Given the description of an element on the screen output the (x, y) to click on. 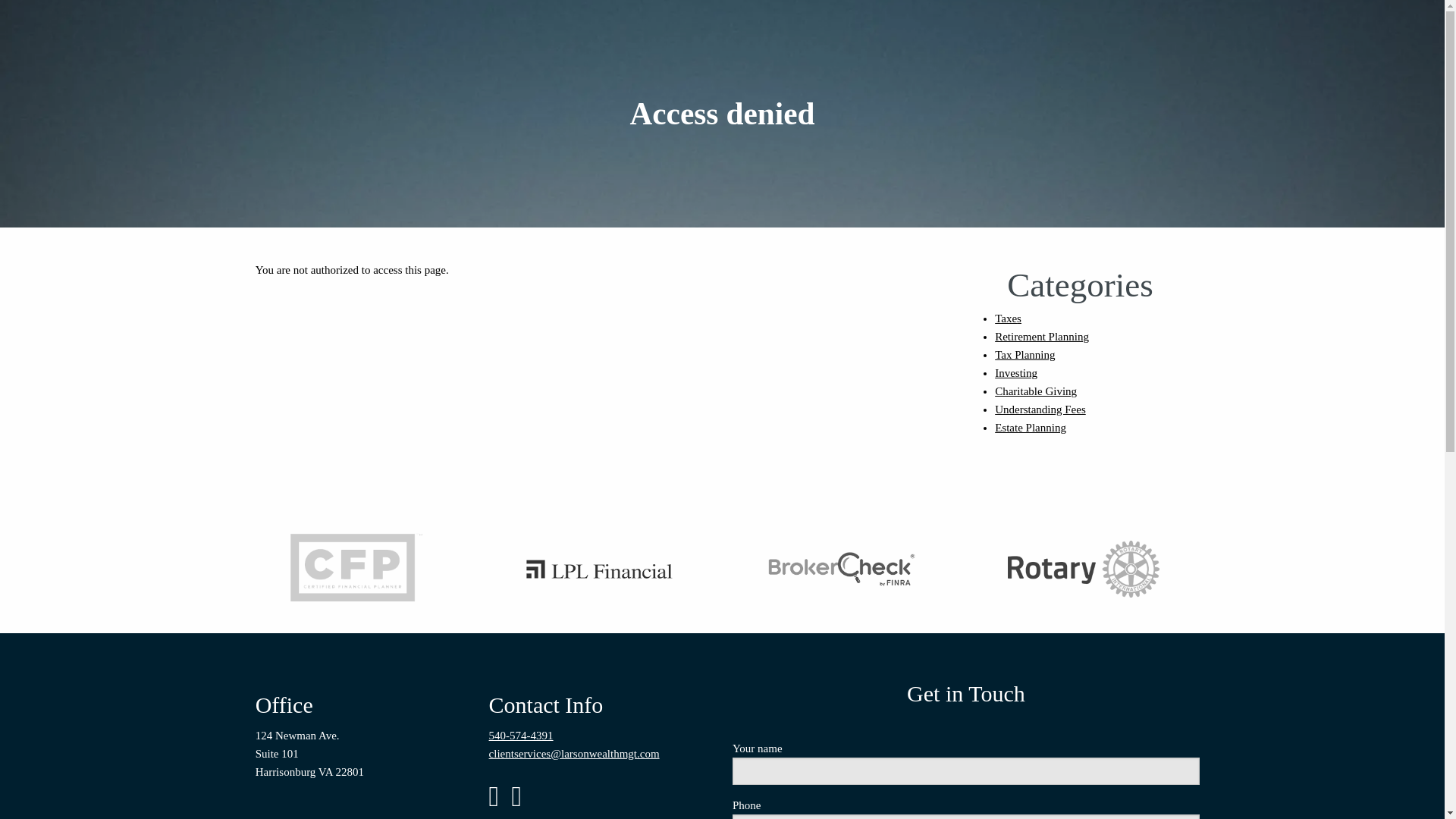
Retirement Planning (1041, 336)
BLOG (1107, 84)
Investing (1015, 372)
Contact (1042, 84)
EVENTS (1165, 84)
PRICING (1031, 50)
Login (1170, 119)
Charitable Giving (1035, 390)
CONTACT (1042, 84)
